Given the description of an element on the screen output the (x, y) to click on. 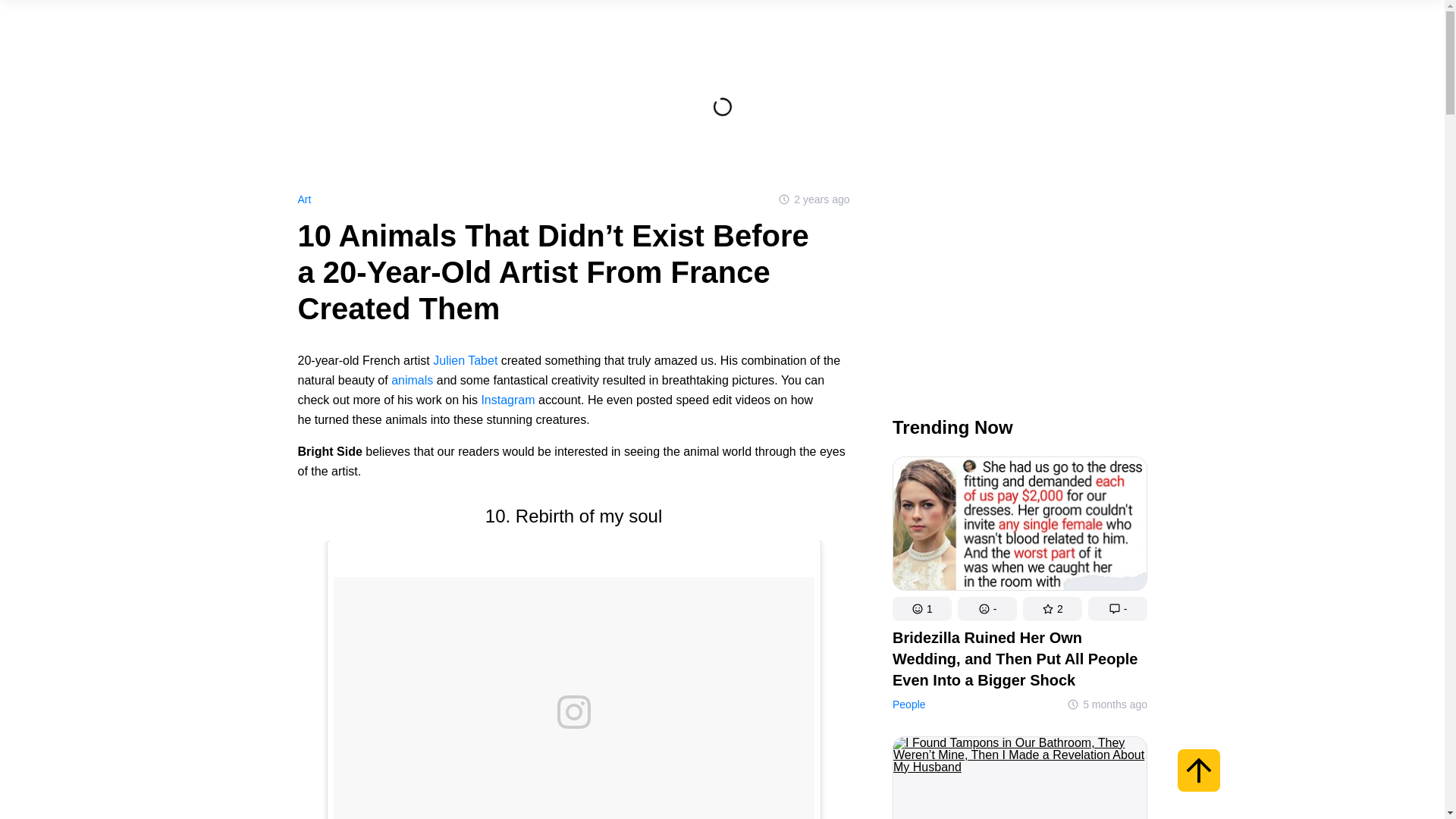
- (986, 608)
Instagram (507, 399)
1 (920, 608)
animals (411, 379)
2 (1051, 608)
Art (304, 199)
- (1117, 608)
Julien Tabet (464, 359)
animals (411, 379)
People (907, 703)
